Given the description of an element on the screen output the (x, y) to click on. 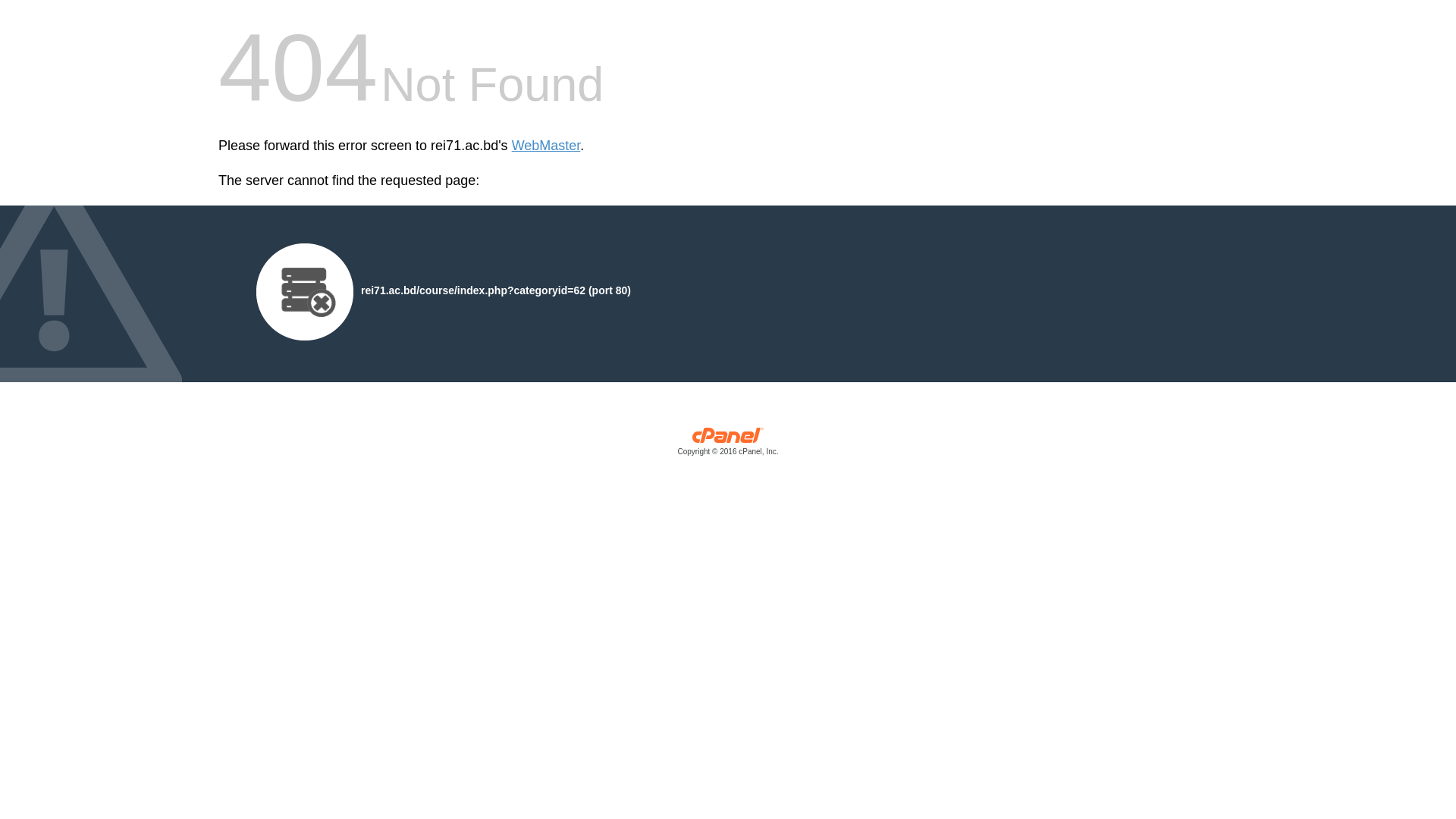
WebMaster Element type: text (545, 145)
